Given the description of an element on the screen output the (x, y) to click on. 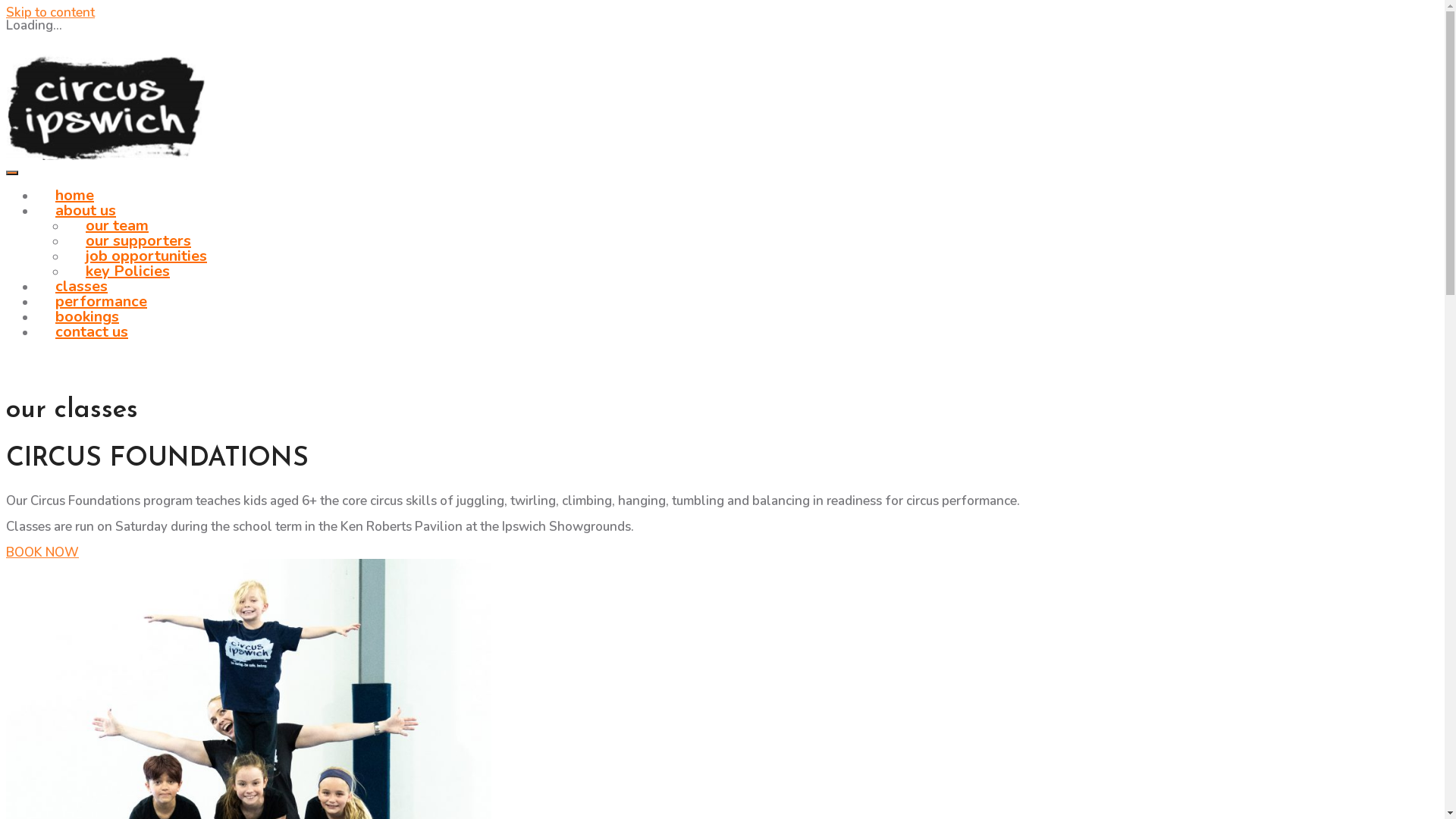
Circus Ipswich Element type: text (90, 197)
our supporters Element type: text (138, 240)
BOOK NOW Element type: text (42, 552)
performance Element type: text (101, 301)
our team Element type: text (116, 225)
bookings Element type: text (87, 316)
contact us Element type: text (91, 331)
job opportunities Element type: text (145, 255)
Skip to content Element type: text (50, 12)
key Policies Element type: text (127, 270)
home Element type: text (74, 195)
about us Element type: text (85, 210)
classes Element type: text (81, 286)
